Given the description of an element on the screen output the (x, y) to click on. 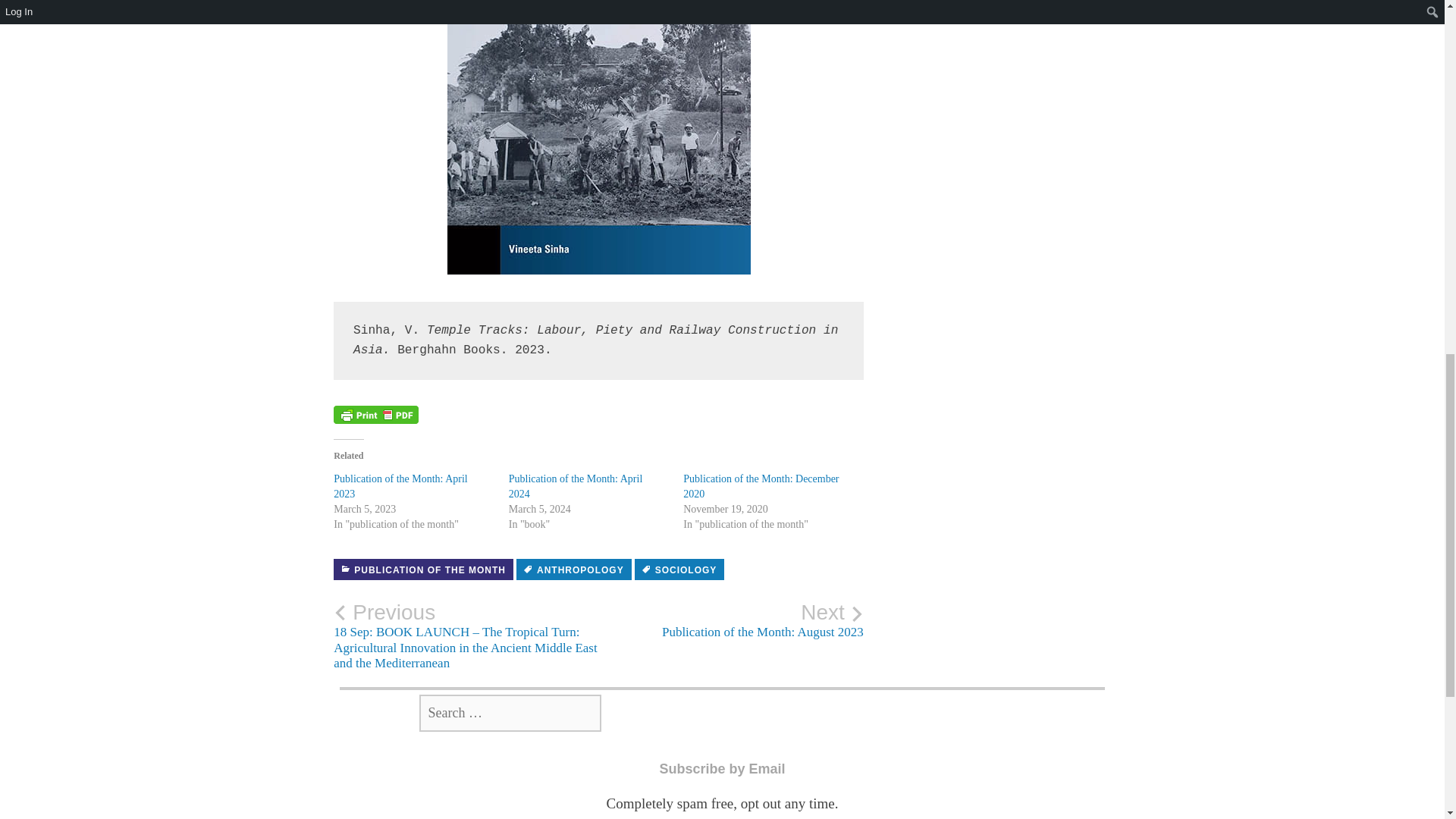
Publication of the Month: December 2020 (760, 486)
ANTHROPOLOGY (573, 568)
Publication of the Month: December 2020 (760, 486)
PUBLICATION OF THE MONTH (423, 568)
Publication of the Month: April 2023 (400, 486)
Publication of the Month: April 2024 (575, 486)
Publication of the Month: April 2023 (400, 486)
SOCIOLOGY (679, 568)
Publication of the Month: April 2024 (575, 486)
